Given the description of an element on the screen output the (x, y) to click on. 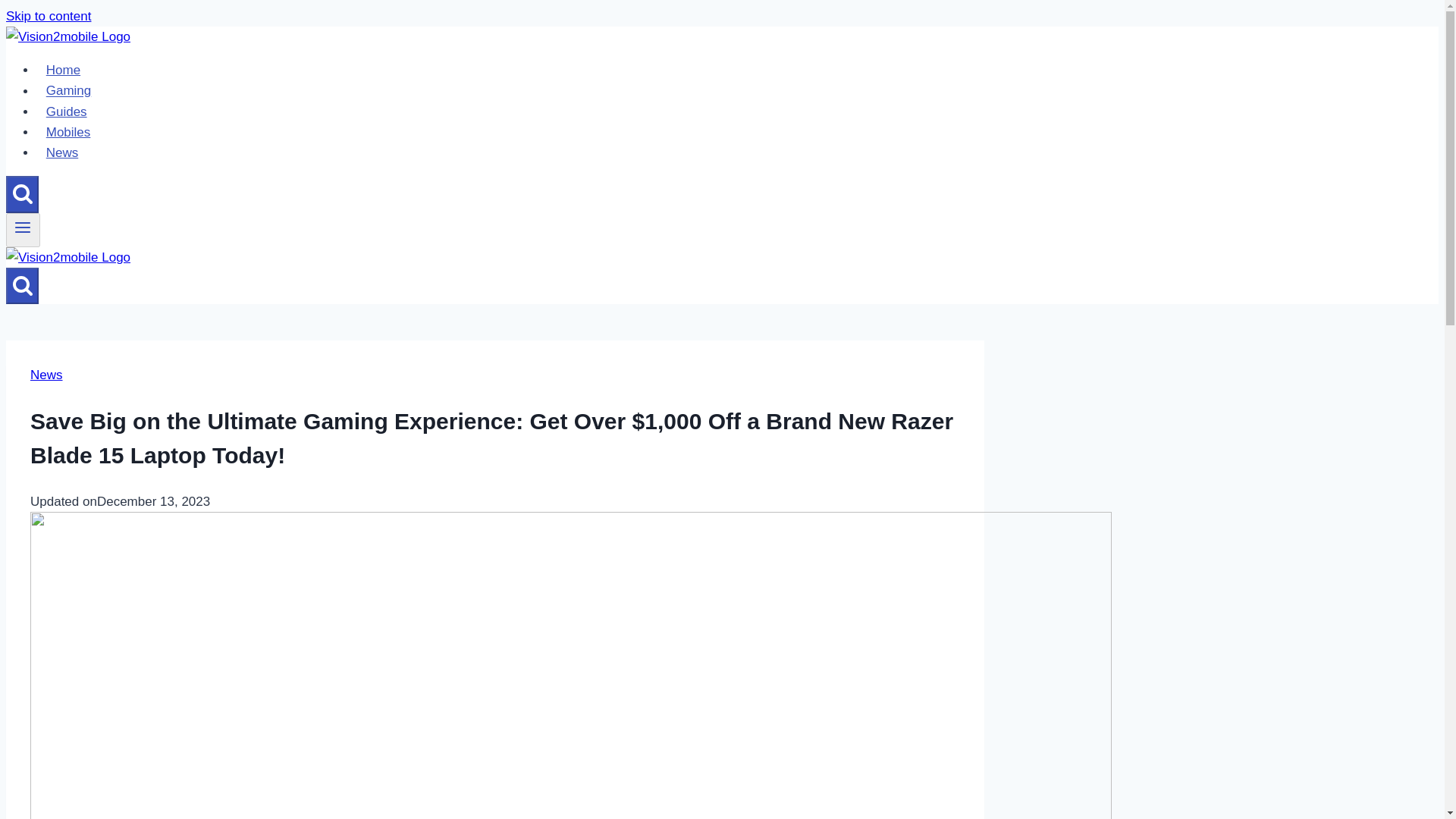
Search (22, 285)
Guides (66, 111)
Search (22, 192)
Skip to content (47, 16)
Toggle Menu (22, 227)
Home (63, 70)
Toggle Menu (22, 229)
News (46, 374)
Search (22, 284)
Skip to content (47, 16)
Mobiles (68, 132)
News (61, 152)
Search (22, 194)
Gaming (68, 90)
